Given the description of an element on the screen output the (x, y) to click on. 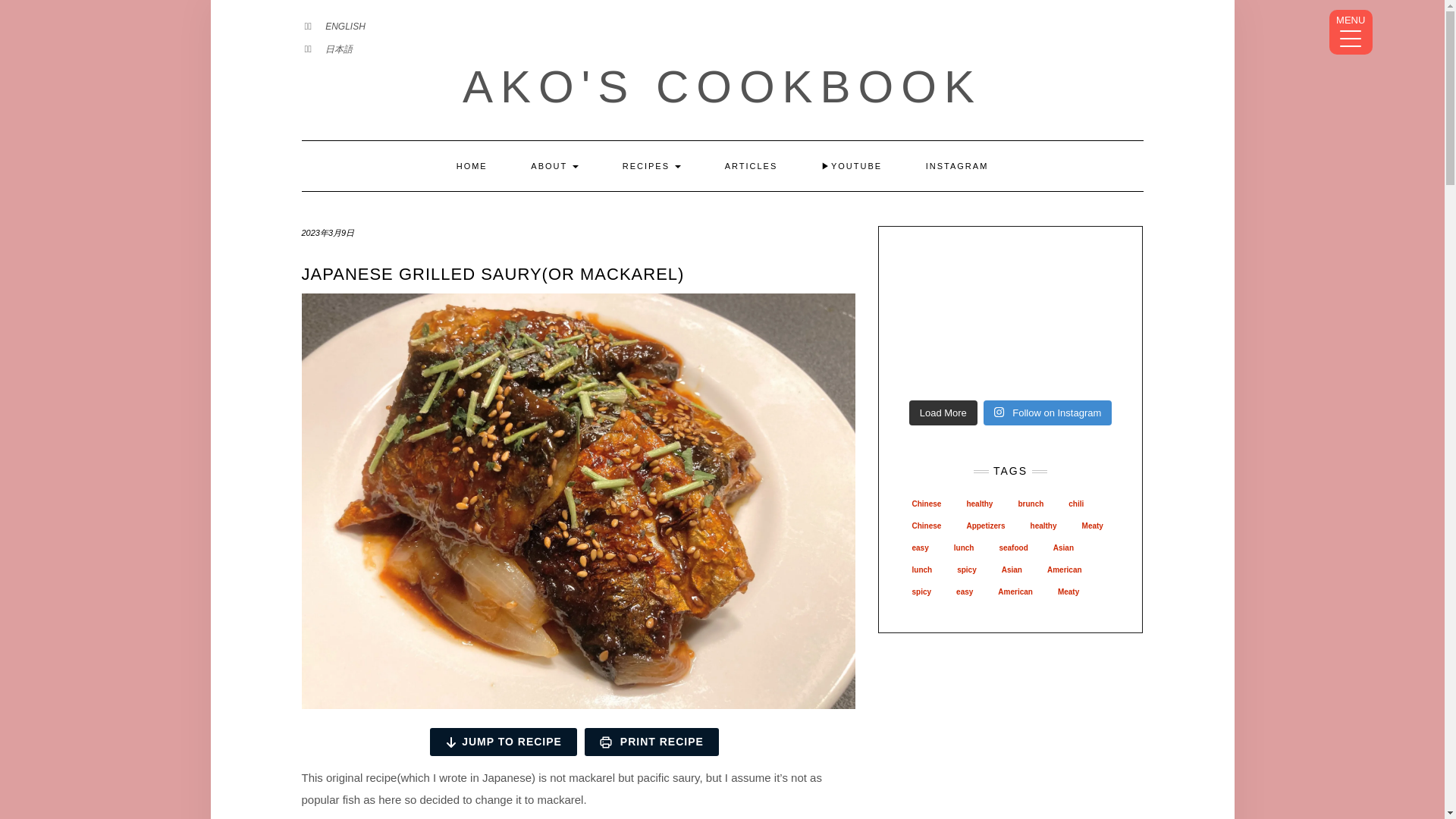
English (344, 26)
HOME (471, 165)
ENGLISH (344, 26)
MENU (1351, 31)
Japanese (338, 49)
AKO'S COOKBOOK (722, 86)
ABOUT (554, 165)
RECIPES (651, 165)
